Given the description of an element on the screen output the (x, y) to click on. 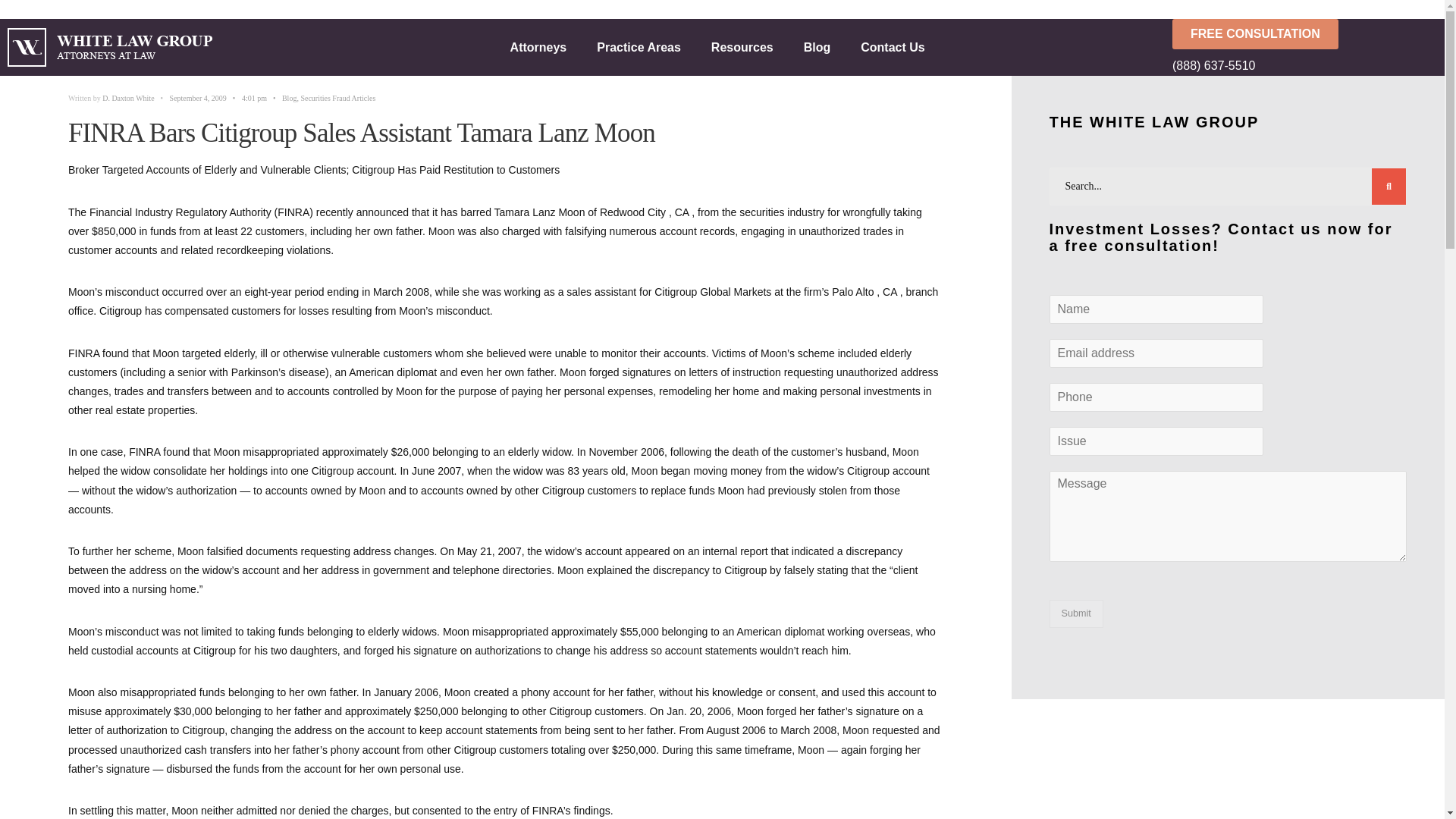
Resources (742, 47)
Practice Areas (637, 47)
Blog (817, 47)
Attorneys (538, 47)
Search... (1228, 186)
Posts by D. Daxton White (127, 98)
Contact Us (892, 47)
